Given the description of an element on the screen output the (x, y) to click on. 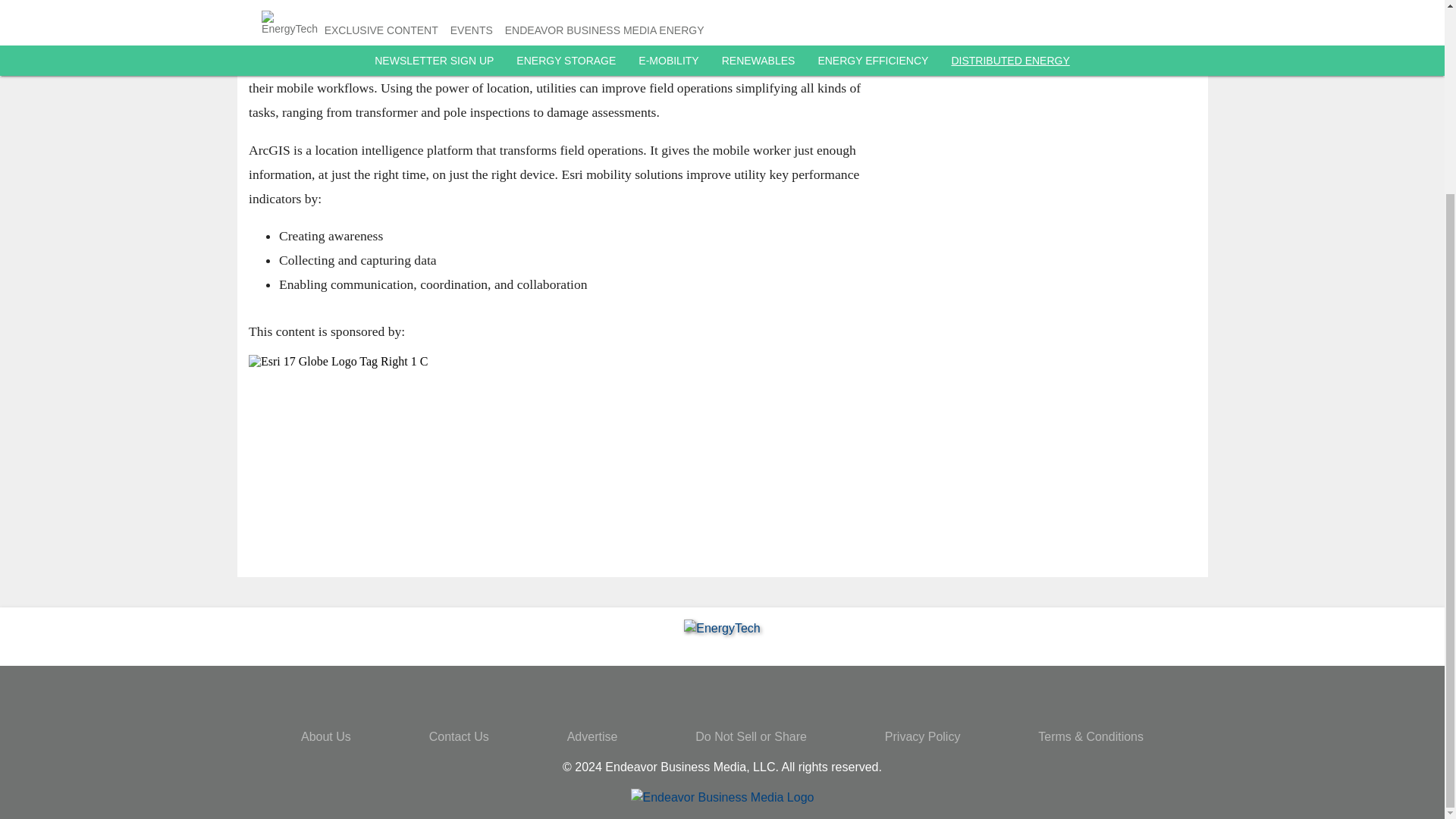
Do Not Sell or Share (750, 736)
Privacy Policy (922, 736)
Field Ops 635175ed7a5a4 (1042, 65)
About Us (325, 736)
Contact Us (459, 736)
Advertise (592, 736)
Esri 17 Globe Logo Tag Right 1 C (560, 450)
